Given the description of an element on the screen output the (x, y) to click on. 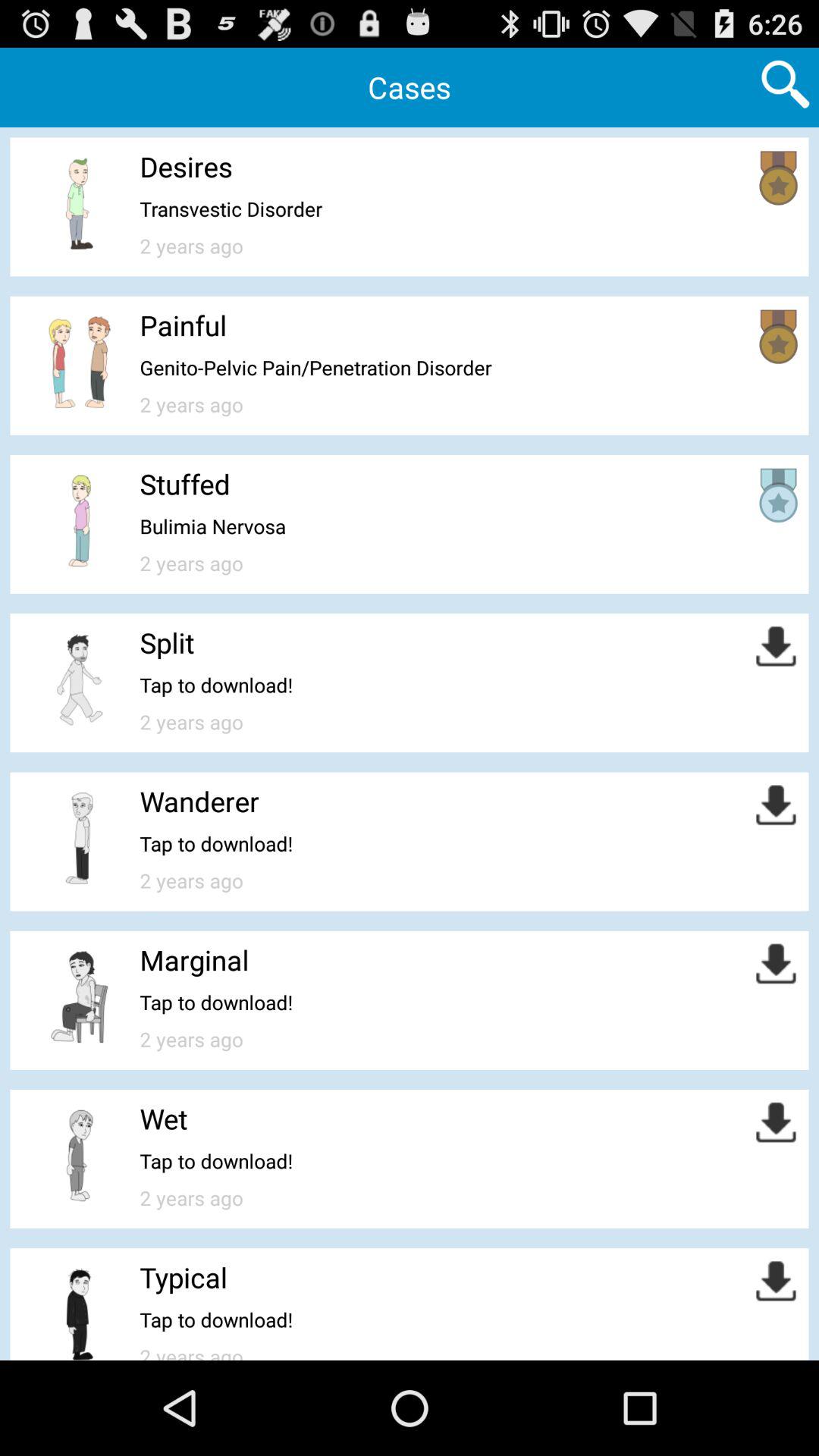
choose item below desires app (230, 208)
